Given the description of an element on the screen output the (x, y) to click on. 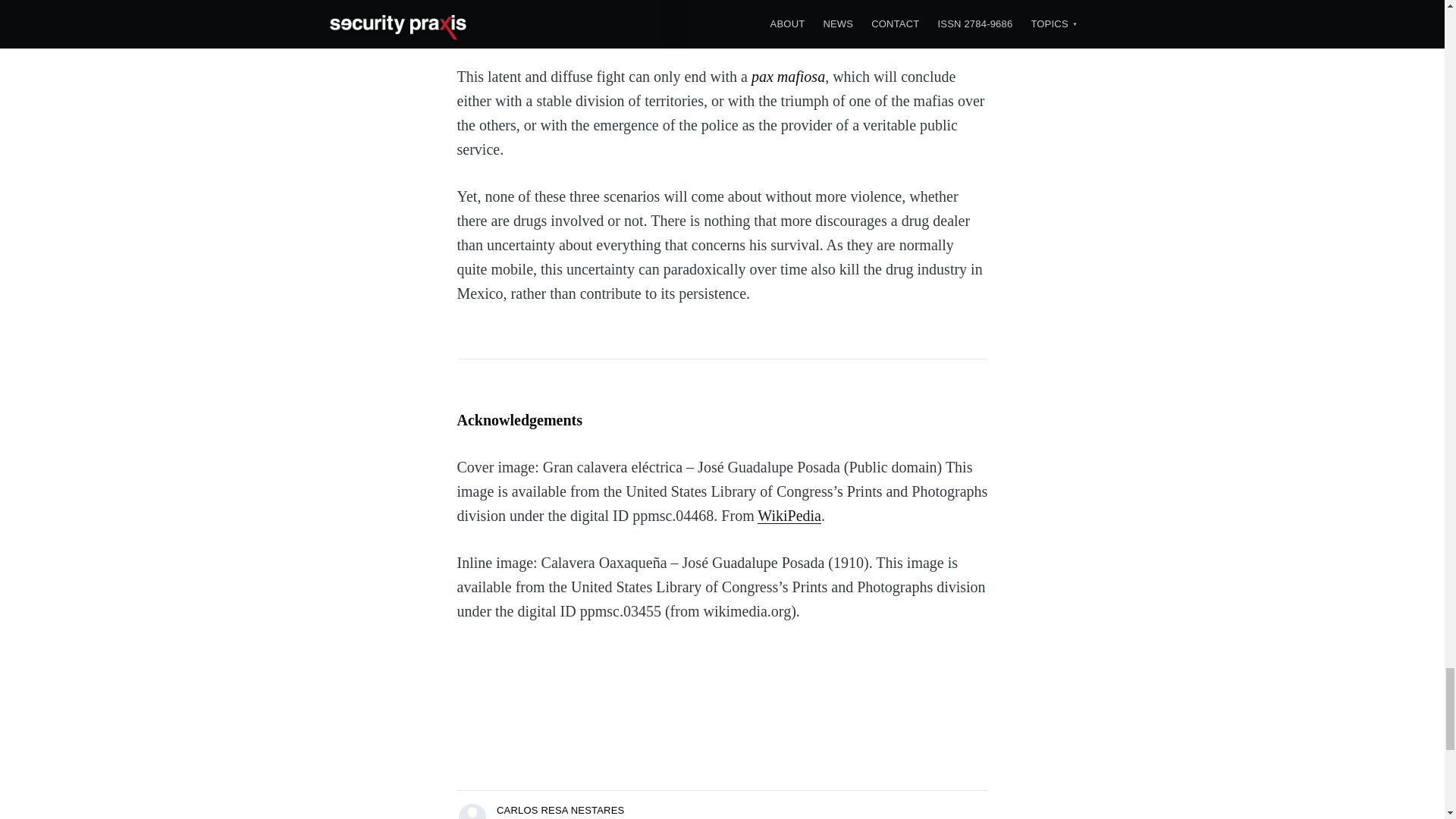
WikiPedia (789, 515)
Carlos Resa Nestares (472, 812)
